Given the description of an element on the screen output the (x, y) to click on. 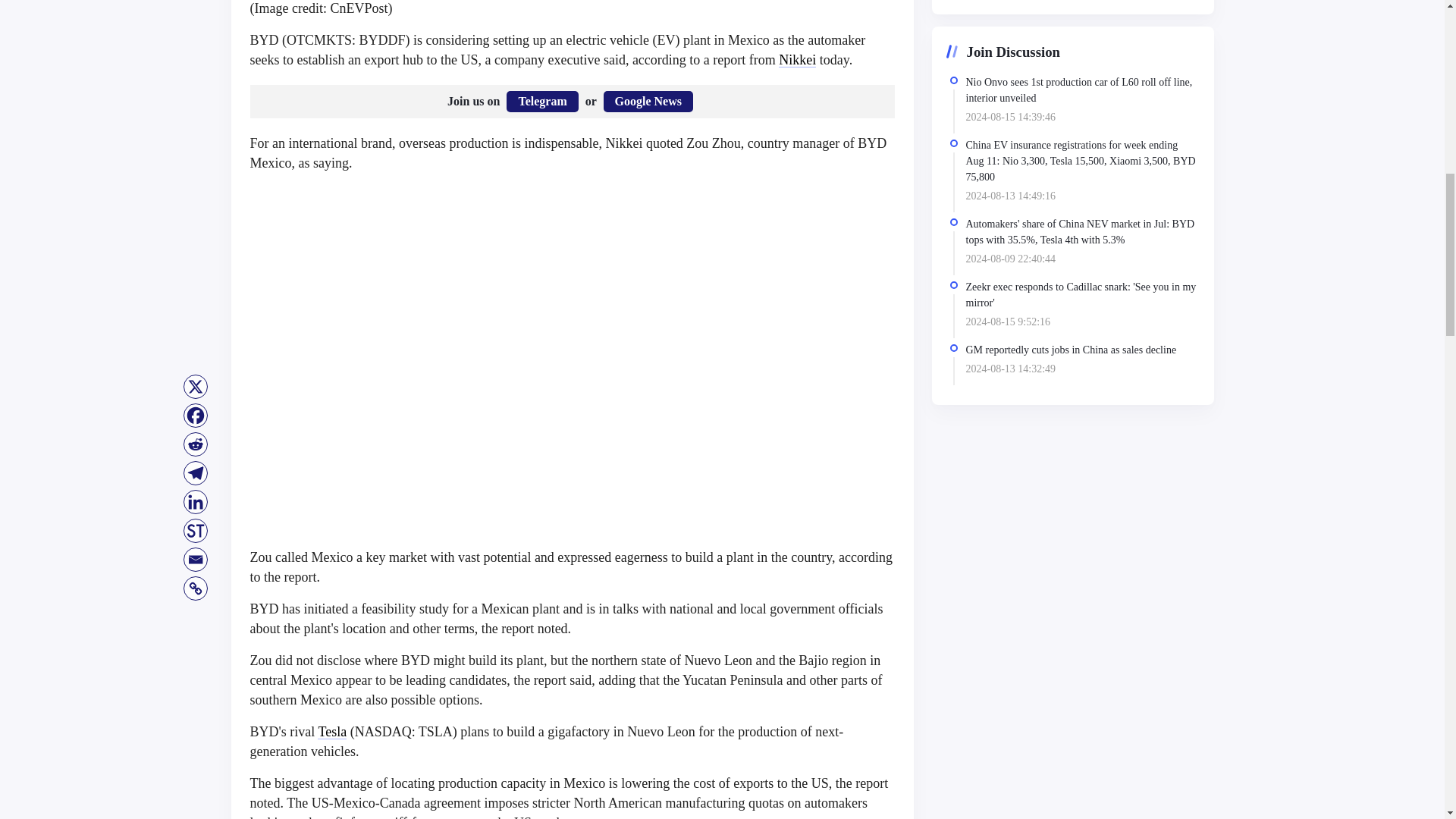
Telegram (542, 101)
Tesla (331, 731)
Google News (648, 101)
Nikkei (796, 59)
